Given the description of an element on the screen output the (x, y) to click on. 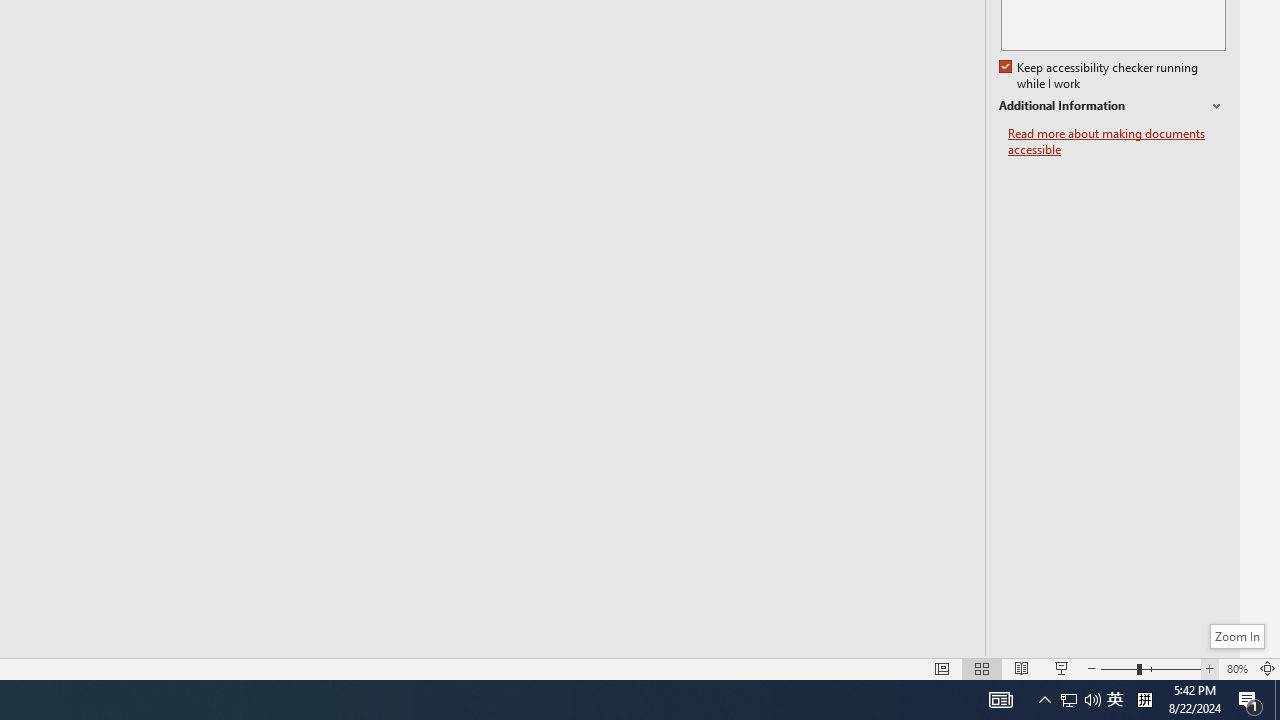
Read more about making documents accessible (1117, 142)
Zoom 80% (1236, 668)
Additional Information (1112, 106)
Keep accessibility checker running while I work (1099, 76)
